Given the description of an element on the screen output the (x, y) to click on. 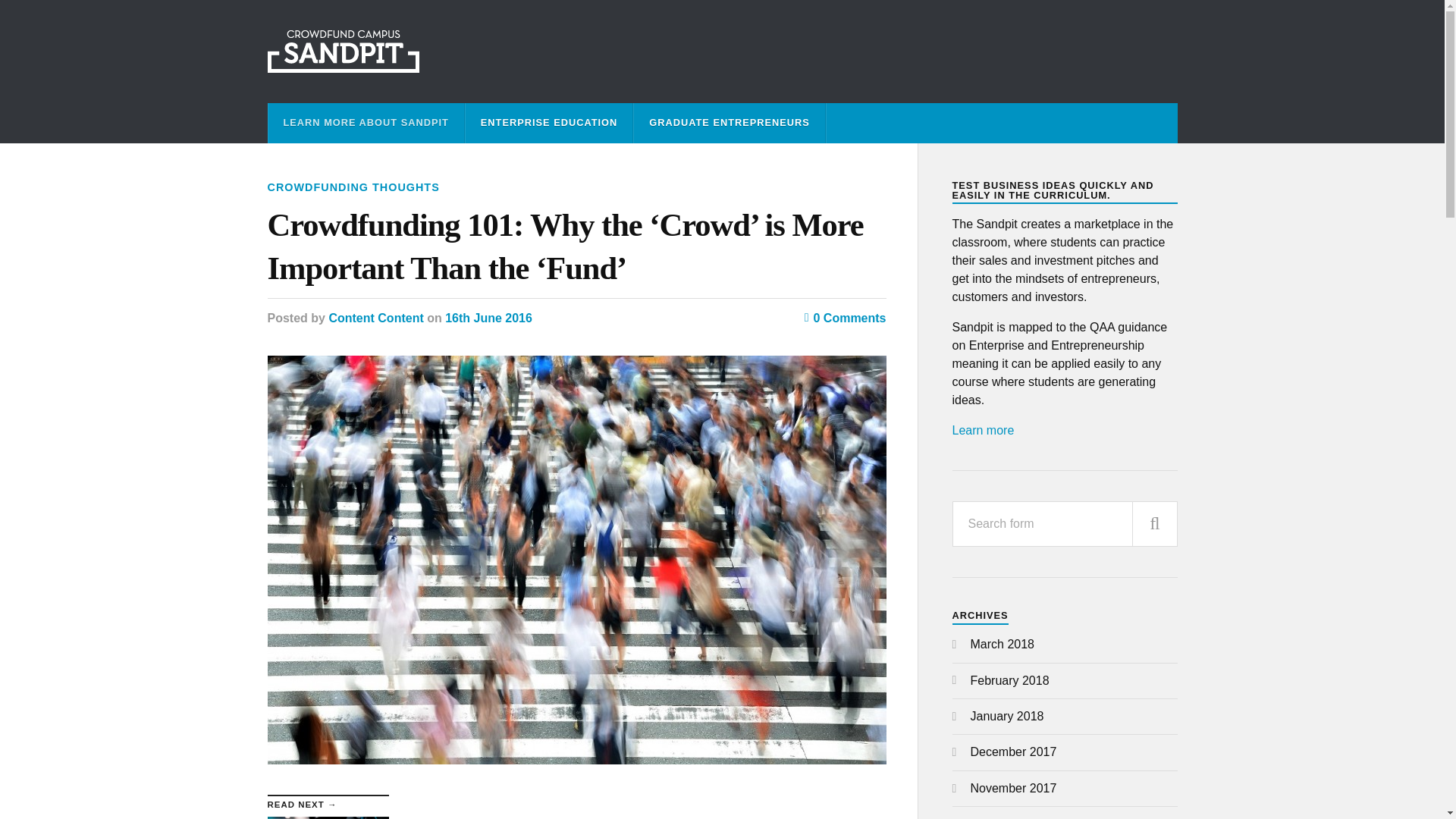
CROWDFUNDING THOUGHTS (352, 186)
November 2017 (1014, 788)
LEARN MORE ABOUT SANDPIT (365, 123)
GRADUATE ENTREPRENEURS (729, 123)
March 2018 (1003, 644)
16th June 2016 (488, 318)
February 2018 (1010, 680)
Learn more (983, 430)
0 Comments (845, 318)
